Given the description of an element on the screen output the (x, y) to click on. 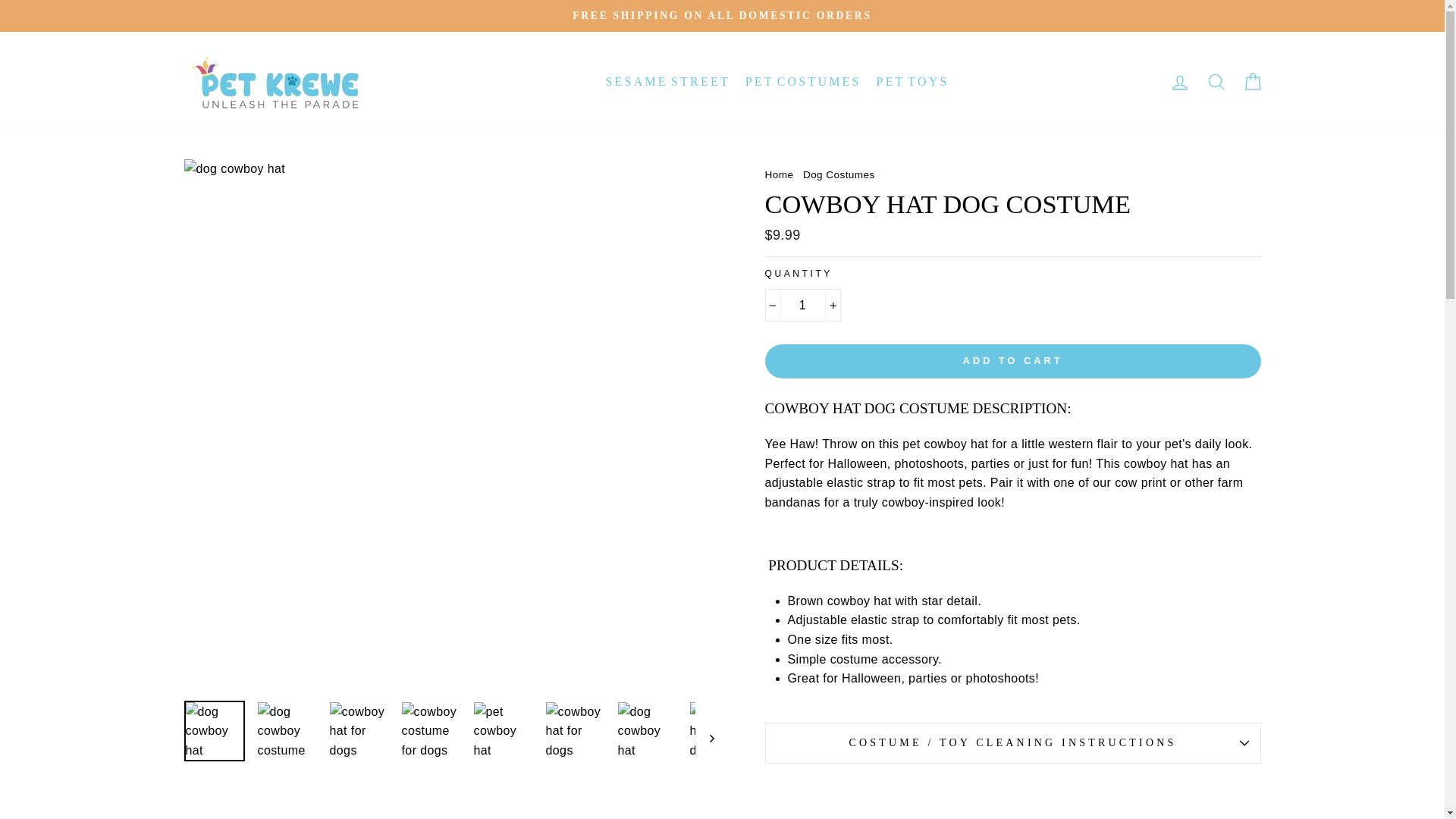
CART (1251, 81)
Back to the frontpage (778, 174)
SESAME STREET (667, 81)
PET COSTUMES (802, 81)
1 (802, 305)
PET TOYS (912, 81)
LOG IN (1178, 81)
SEARCH (1215, 81)
